Given the description of an element on the screen output the (x, y) to click on. 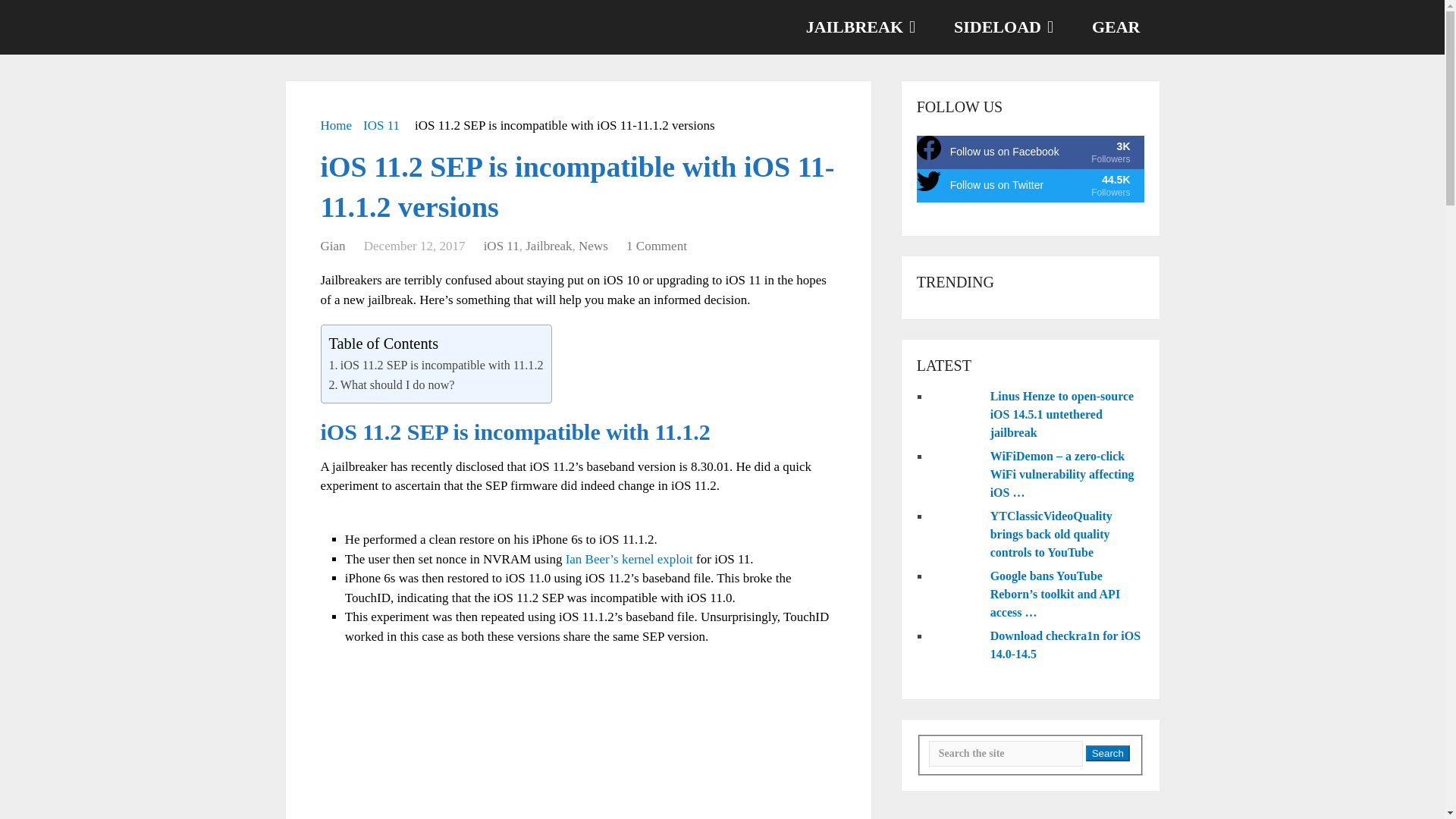
1 Comment (656, 246)
iOS 11 (501, 246)
News (593, 246)
Gian (332, 246)
What should I do now? (397, 384)
What should I do now? (397, 384)
Home (336, 124)
JAILBREAK (1030, 151)
GEAR (857, 27)
SIDELOAD (1114, 27)
Jailbreak (1000, 27)
View all posts in iOS 11 (548, 246)
Posts by Gian (501, 246)
iOS 11.2 SEP is incompatible with 11.1.2 (332, 246)
